Given the description of an element on the screen output the (x, y) to click on. 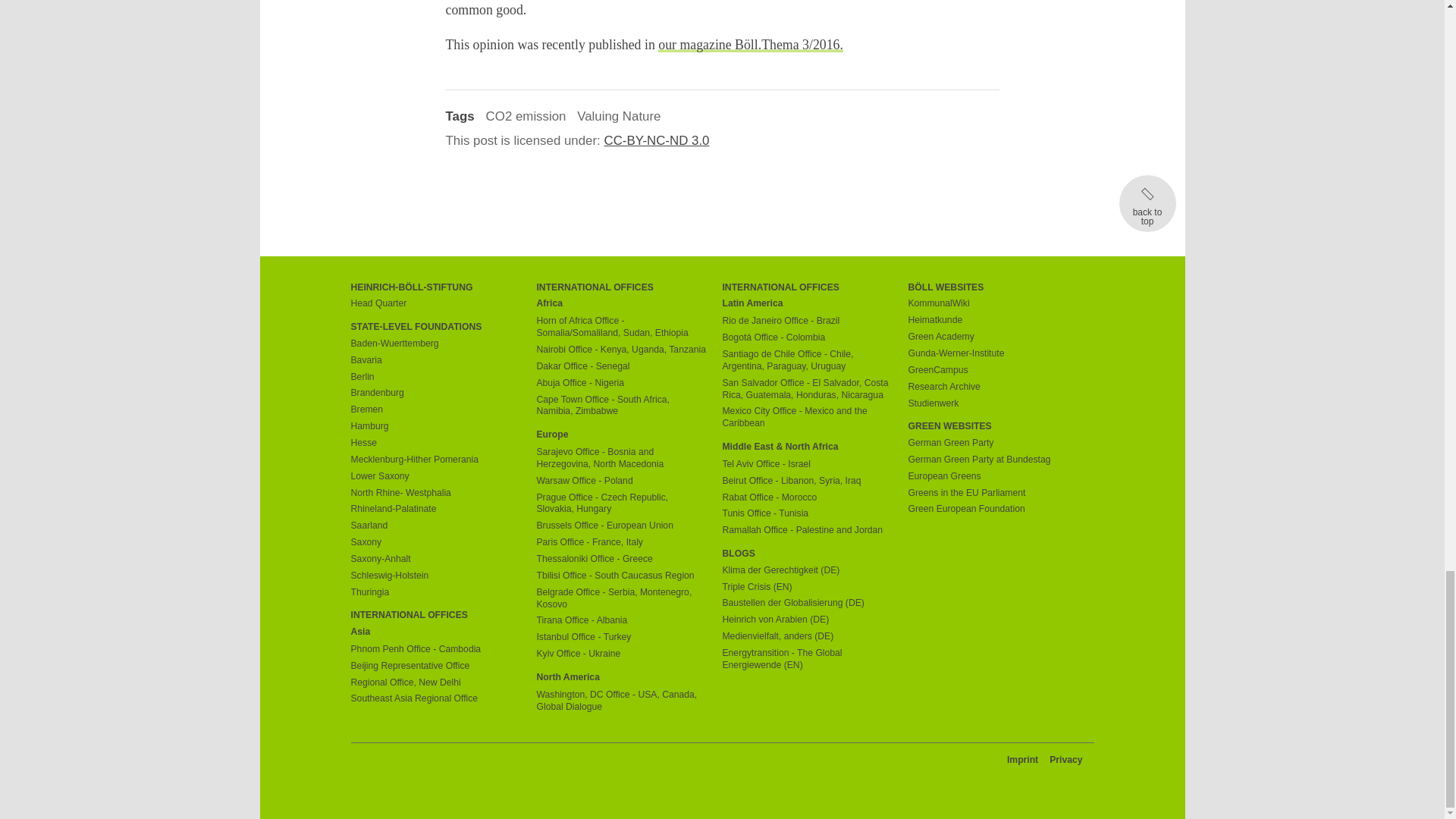
CC-BY-NC-ND 3.0 (663, 140)
Bremen (435, 410)
Berlin (435, 377)
Bavaria (435, 360)
CO2 emission (526, 115)
Hesse (435, 443)
Mecklenburg-Hither Pomerania (435, 460)
Lower Saxony (435, 476)
Brandenburg (435, 393)
Head Quarter (435, 304)
Baden-Wuerttemberg (435, 344)
Hamburg (435, 426)
Valuing Nature (618, 115)
